Given the description of an element on the screen output the (x, y) to click on. 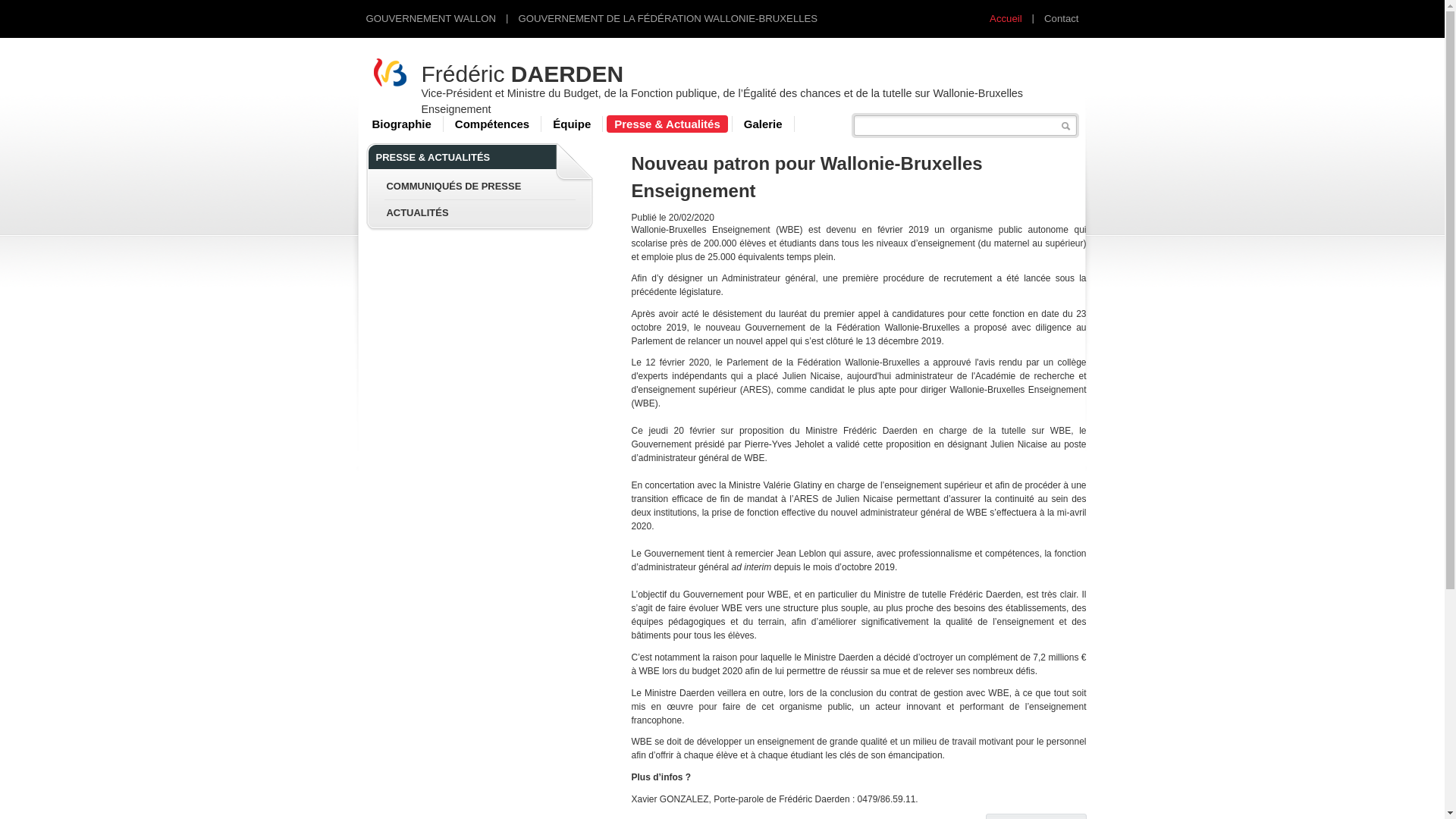
Contact Element type: text (1061, 18)
Accueil Element type: text (1005, 18)
Biographie Element type: text (401, 123)
GOUVERNEMENT WALLON Element type: text (430, 18)
Galerie Element type: text (763, 123)
